Given the description of an element on the screen output the (x, y) to click on. 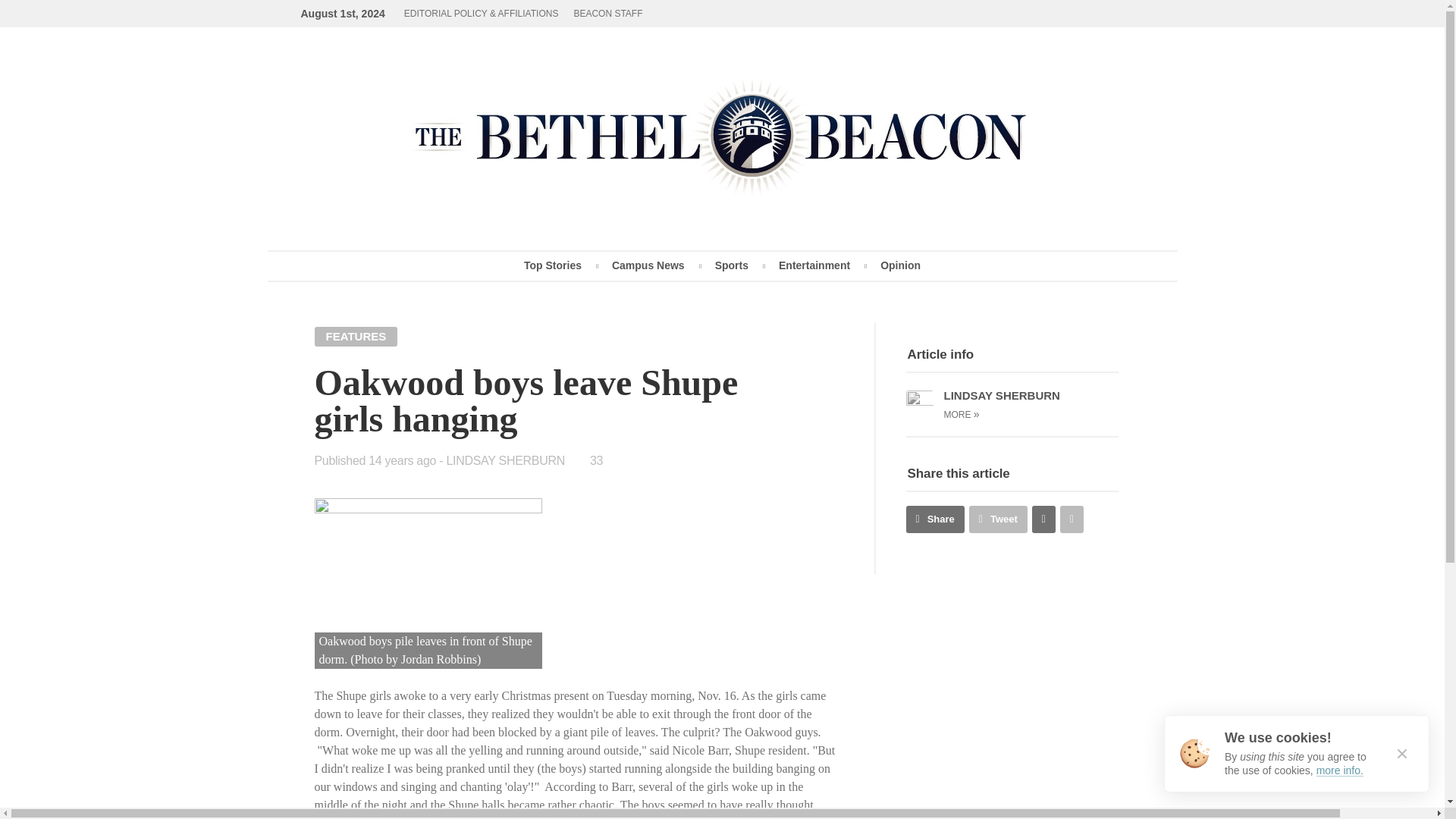
Entertainment (813, 265)
LINDSAY SHERBURN (504, 460)
Top Stories (552, 265)
Opinion (900, 265)
leaves1 (427, 583)
Share (934, 519)
BEACON STAFF (607, 13)
Search (948, 163)
Campus News (648, 265)
Tweet (998, 519)
Sports (732, 265)
